Given the description of an element on the screen output the (x, y) to click on. 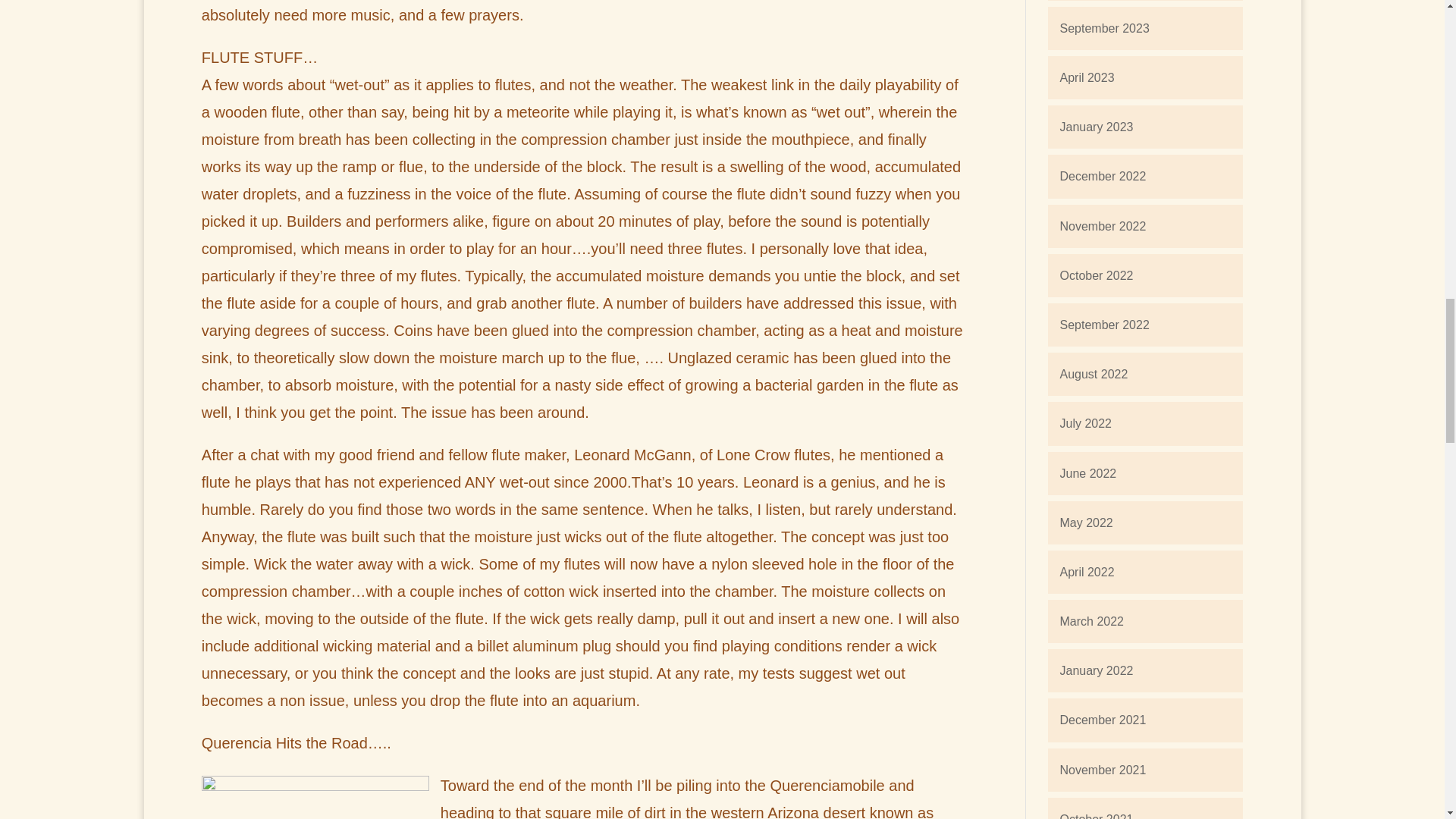
October 2022 (1095, 275)
January 2023 (1095, 126)
December 2022 (1102, 175)
September 2023 (1103, 28)
August 2022 (1092, 373)
November 2022 (1102, 226)
April 2023 (1086, 77)
September 2022 (1103, 324)
